Given the description of an element on the screen output the (x, y) to click on. 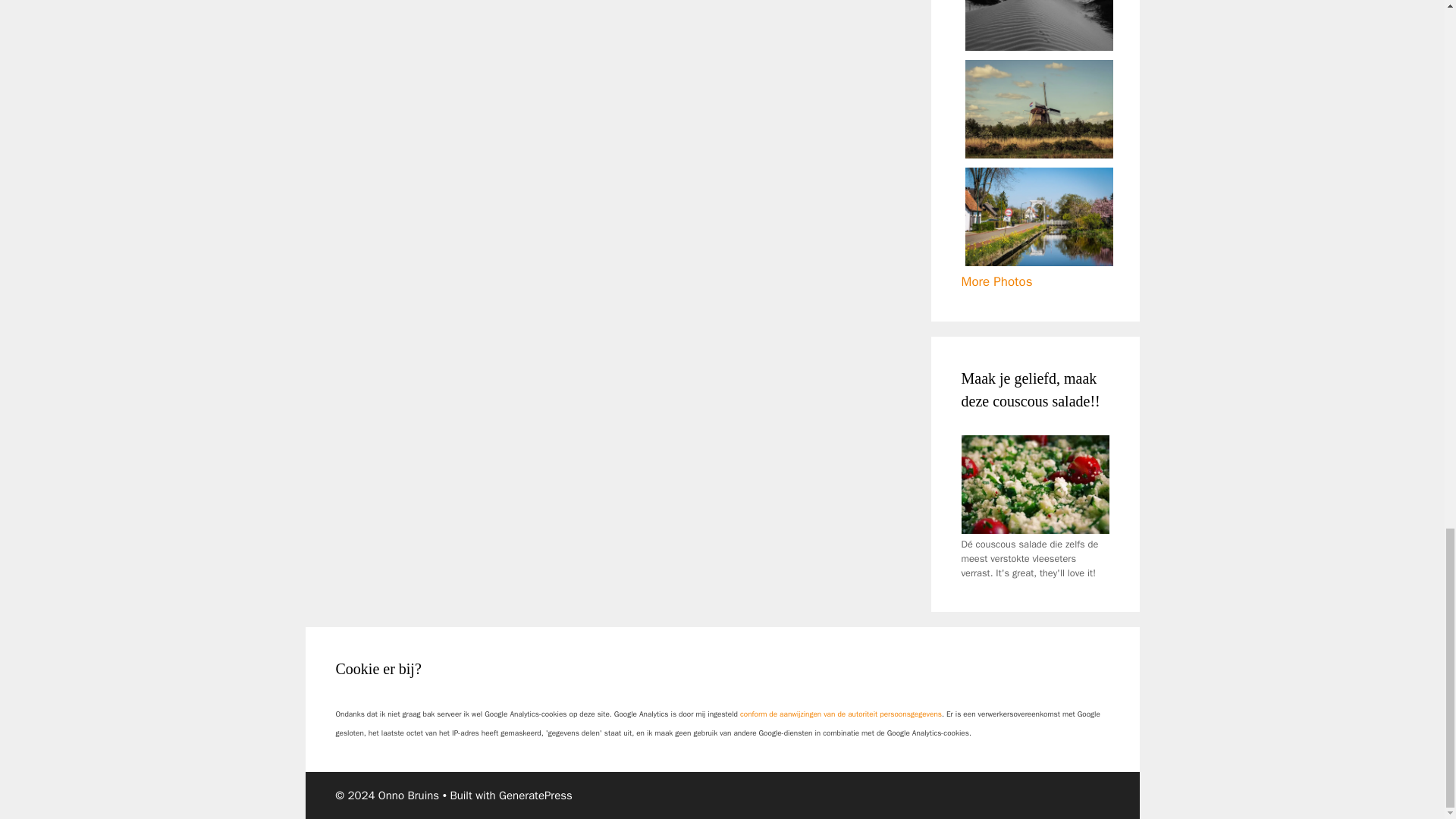
conform de aanwijzingen van de autoriteit persoonsgegevens (840, 714)
Terschellinger Duin (1037, 25)
Molen de Onrust (1037, 108)
Kortenhoef (1037, 216)
GeneratePress (535, 795)
More Photos (996, 281)
